Given the description of an element on the screen output the (x, y) to click on. 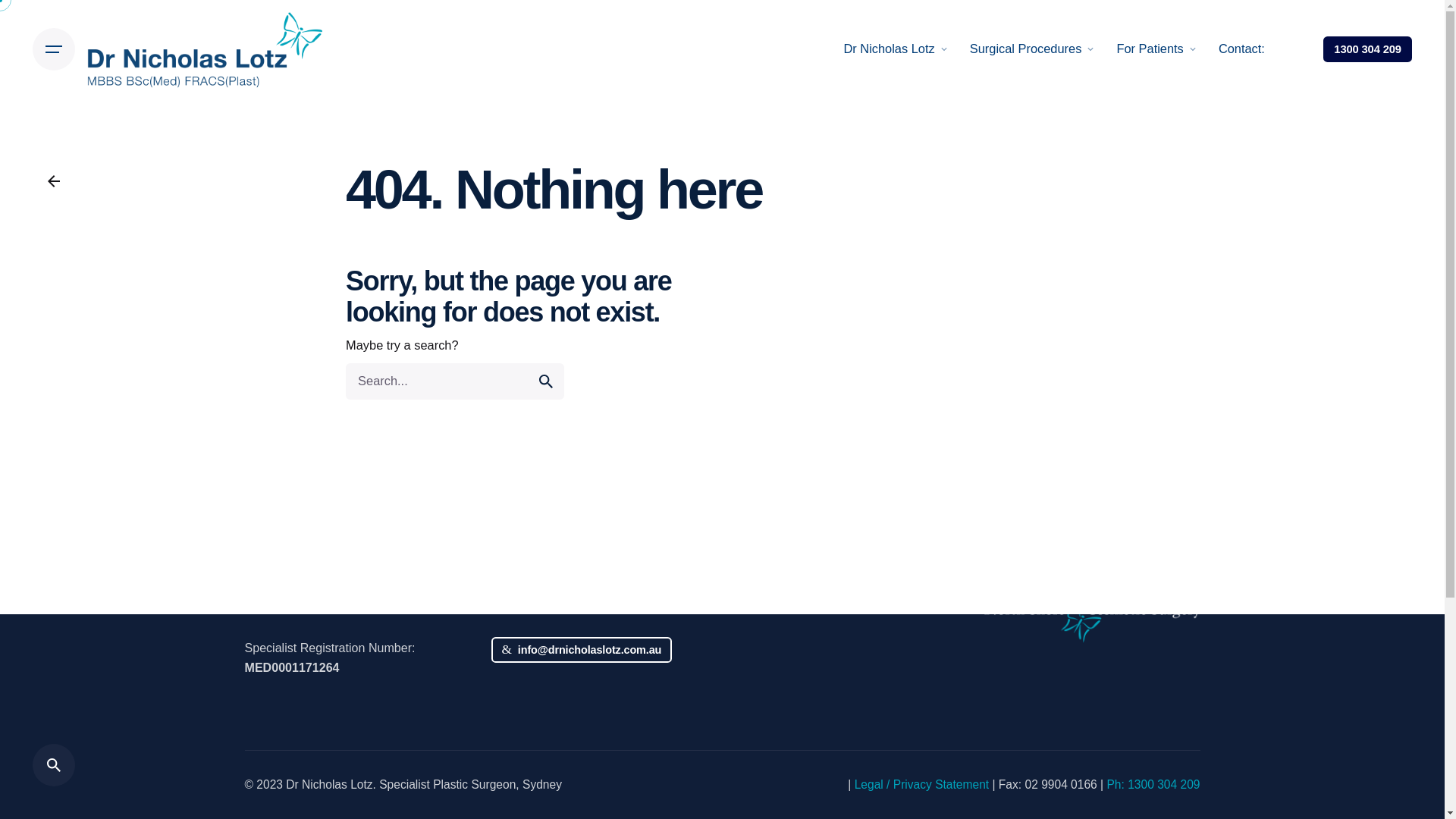
Frequently Asked Questions Element type: text (813, 486)
Ph: 1300 304 209 Element type: text (564, 583)
Patient Fact Sheets Element type: text (790, 508)
Ph: 1300 304 209 Element type: text (1152, 784)
1300 304 209 Element type: text (1367, 49)
Contact: Element type: text (1241, 48)
Google Maps Element type: text (558, 489)
Contact Us Element type: text (767, 531)
Dr Nicholas Lotz Element type: text (888, 48)
For Patients Element type: text (1149, 48)
Legal / Privacy Statement Element type: text (921, 784)
Choosing Your Surgeon Element type: text (801, 463)
info@drnicholaslotz.com.au Element type: text (581, 649)
Surgical Procedures Element type: text (1025, 48)
